Given the description of an element on the screen output the (x, y) to click on. 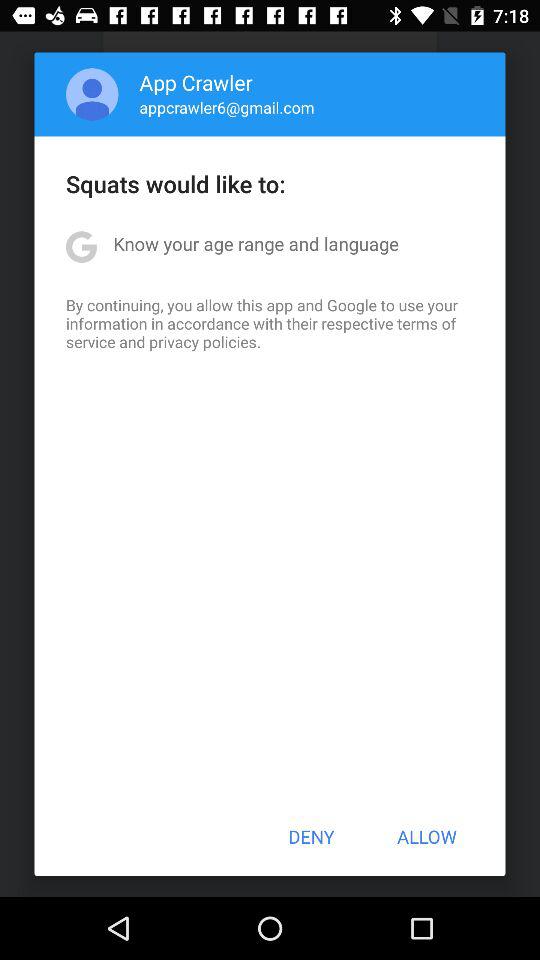
turn on item to the left of app crawler (92, 94)
